Given the description of an element on the screen output the (x, y) to click on. 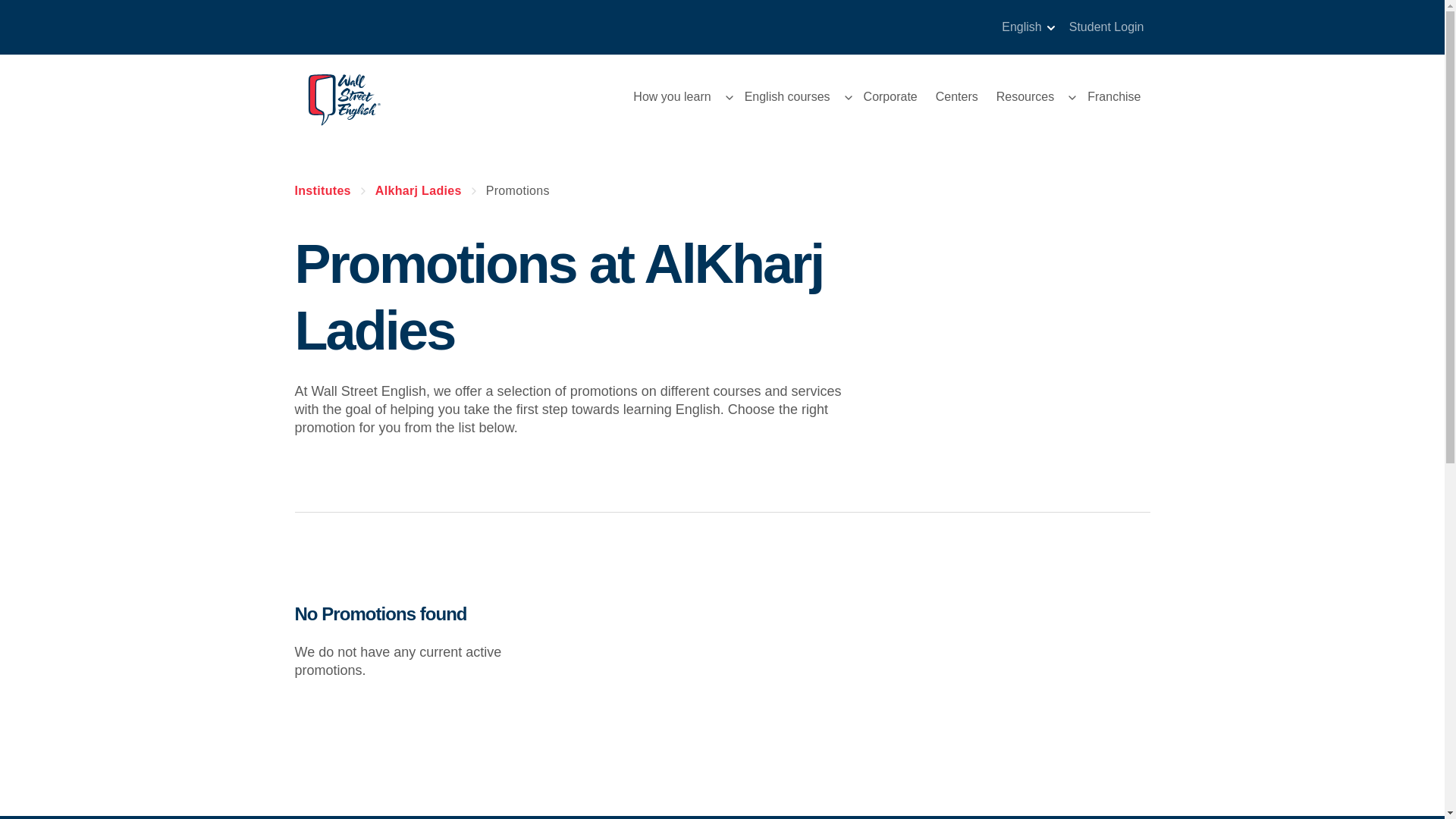
Institutes (322, 190)
English courses (787, 96)
Alkharj Ladies (418, 190)
How you learn (671, 96)
Student Login (1101, 27)
